Given the description of an element on the screen output the (x, y) to click on. 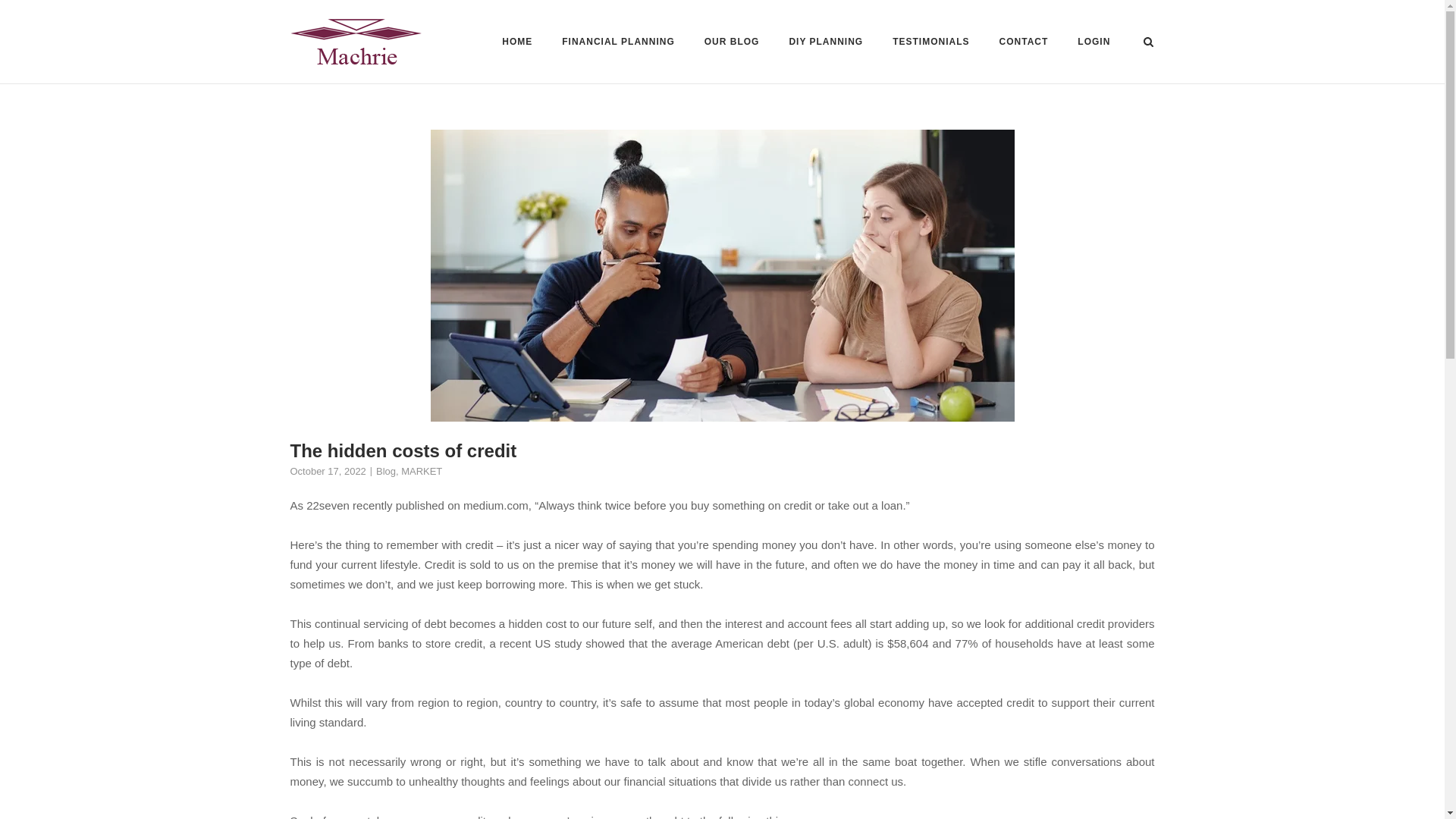
DIY PLANNING (826, 43)
Blog (385, 471)
LOGIN (1093, 44)
HOME (517, 44)
FINANCIAL PLANNING (618, 44)
MARKET (421, 471)
OUR BLOG (732, 44)
TESTIMONIALS (930, 44)
CONTACT (1023, 44)
